Given the description of an element on the screen output the (x, y) to click on. 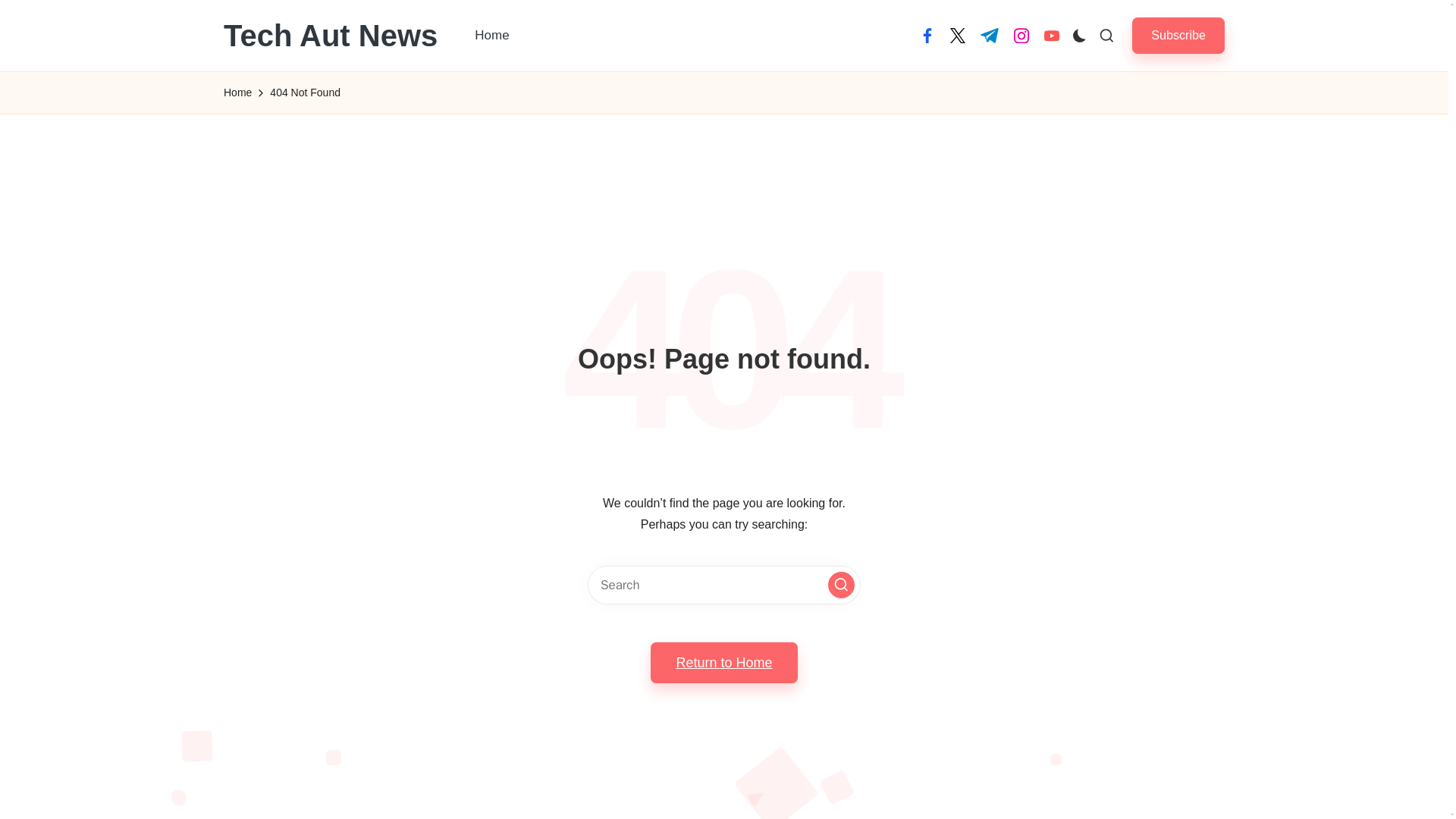
Tech Aut News (331, 35)
facebook.com (927, 35)
Home (491, 35)
youtube.com (1051, 35)
instagram.com (1020, 35)
Home (237, 92)
Return to Home (723, 662)
Subscribe (1178, 35)
t.me (989, 35)
twitter.com (957, 35)
